Given the description of an element on the screen output the (x, y) to click on. 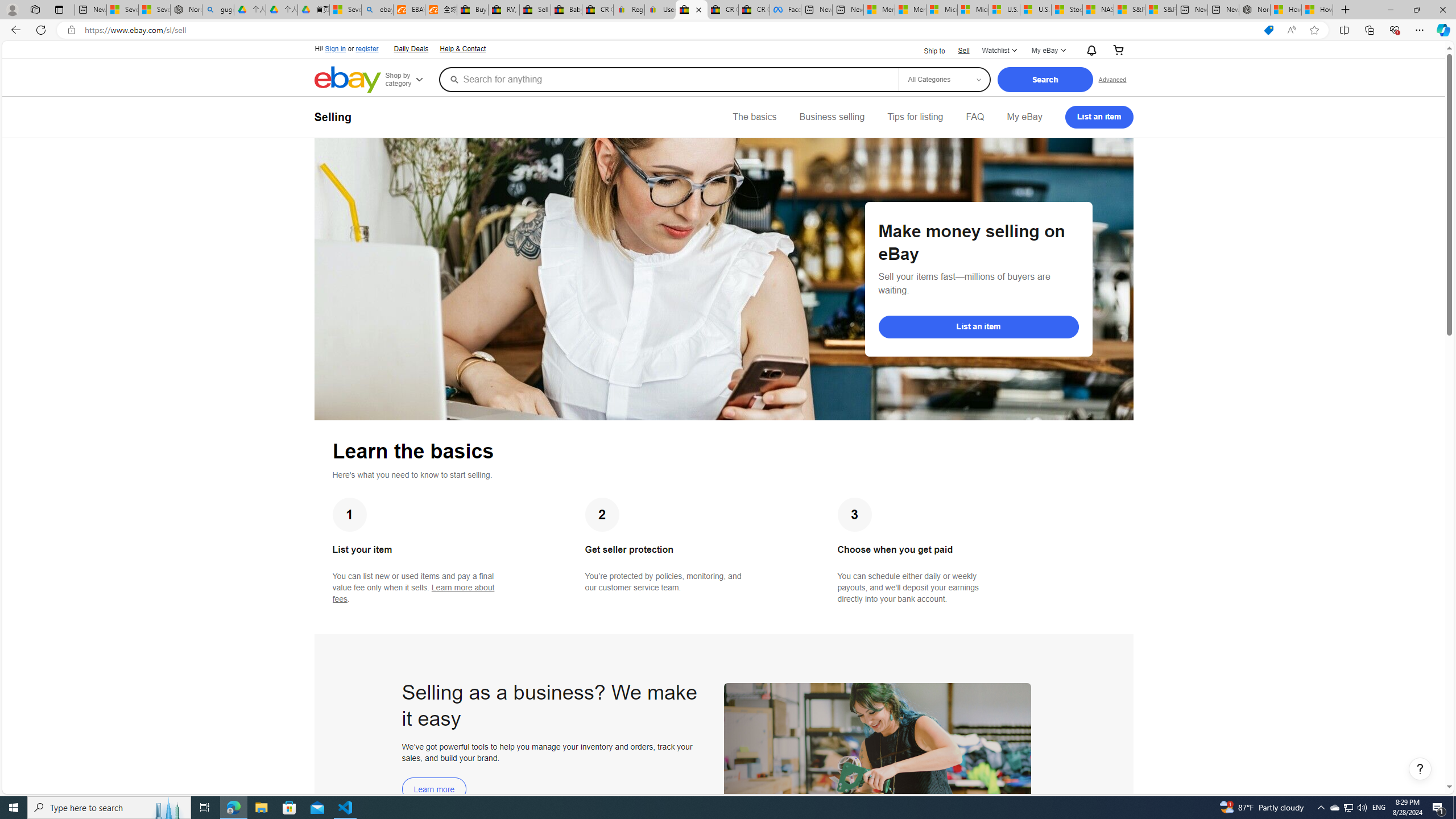
My eBayExpand My eBay (1048, 50)
WatchlistExpand Watch List (998, 50)
Search for anything (667, 78)
Learn more (434, 788)
Ship to (927, 49)
Ship to (927, 50)
